Given the description of an element on the screen output the (x, y) to click on. 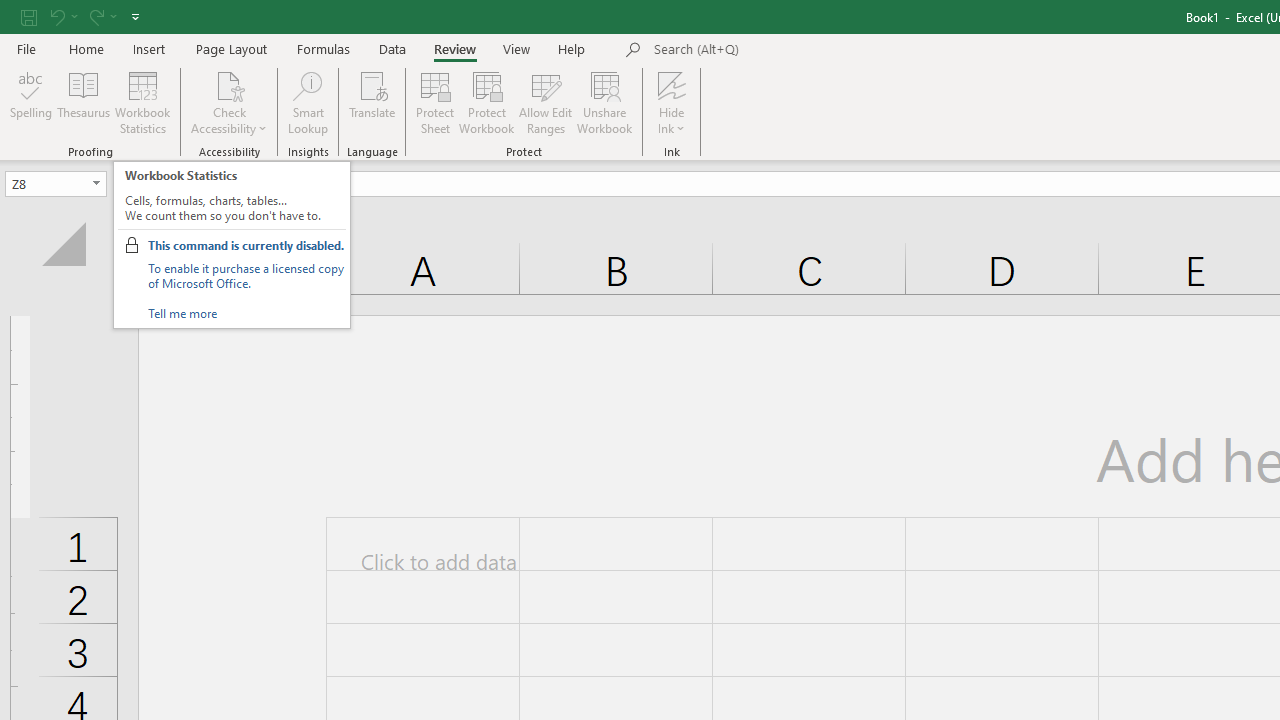
Workbook Statistics (142, 102)
Smart Lookup (308, 102)
Protect Sheet... (434, 102)
Translate (372, 102)
Allow Edit Ranges (545, 102)
Thesaurus... (83, 102)
This command is currently disabled. (245, 245)
